Given the description of an element on the screen output the (x, y) to click on. 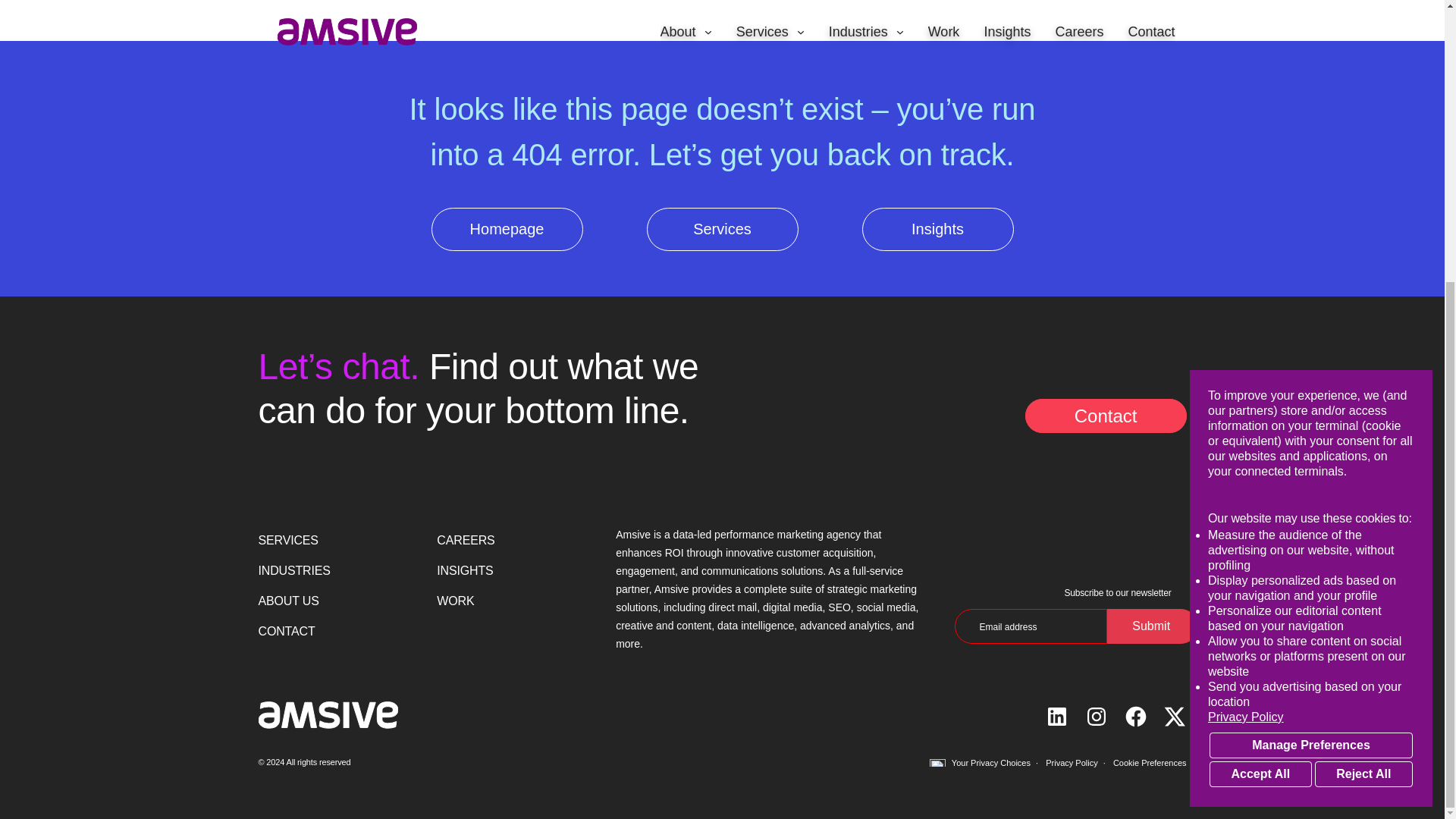
Accept All (1260, 352)
Privacy Policy (1310, 295)
Homepage (327, 714)
Manage Preferences (1310, 323)
Reject All (1363, 352)
